Given the description of an element on the screen output the (x, y) to click on. 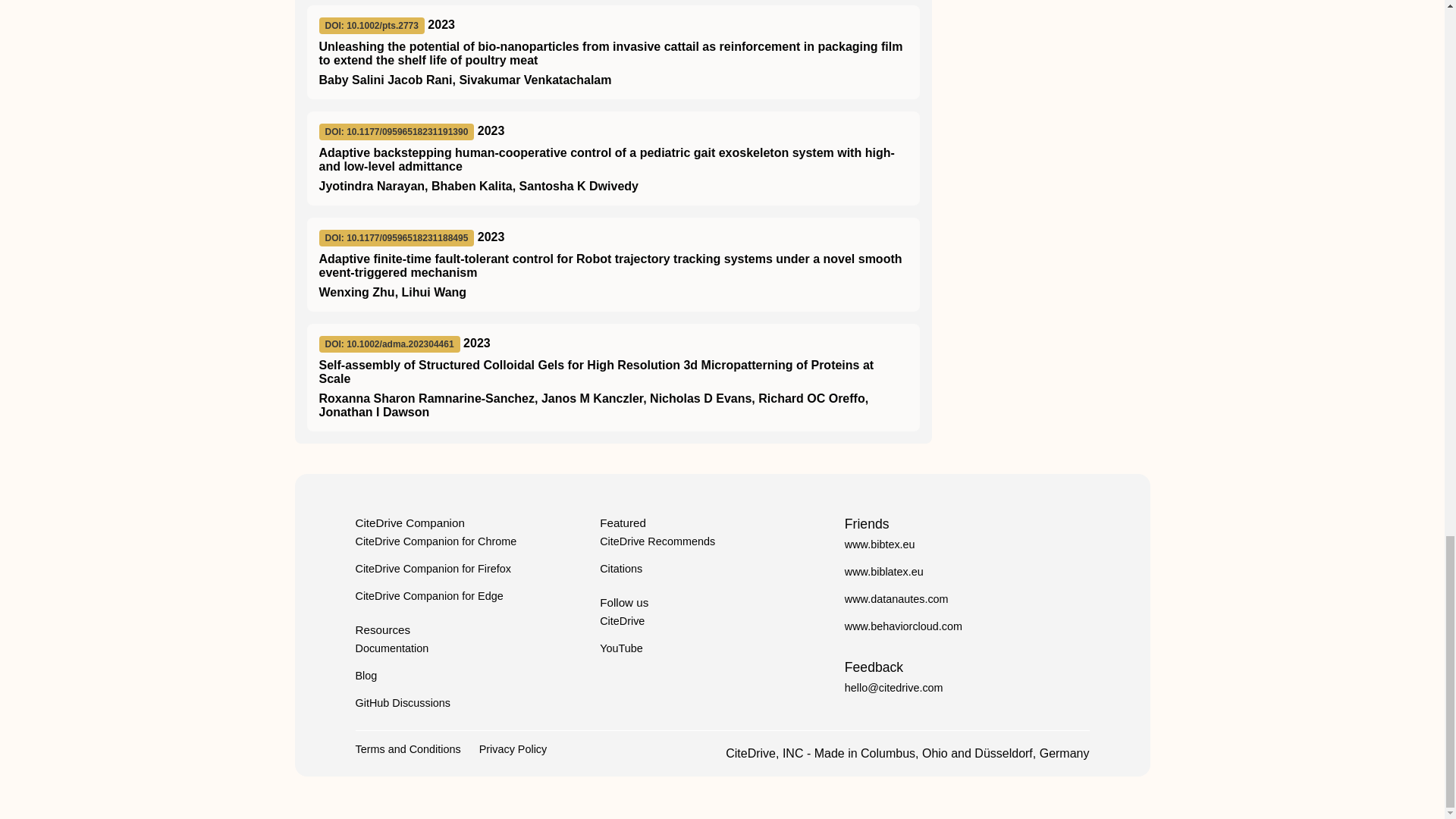
YouTube (621, 648)
Documentation (391, 648)
www.biblatex.eu (883, 571)
Citations (620, 568)
CiteDrive (622, 621)
Blog (366, 675)
www.bibtex.eu (879, 544)
CiteDrive Companion for Firefox (433, 568)
CiteDrive Companion for Edge (428, 595)
CiteDrive Companion for Chrome (435, 541)
CiteDrive Recommends (656, 541)
GitHub Discussions (402, 702)
